Given the description of an element on the screen output the (x, y) to click on. 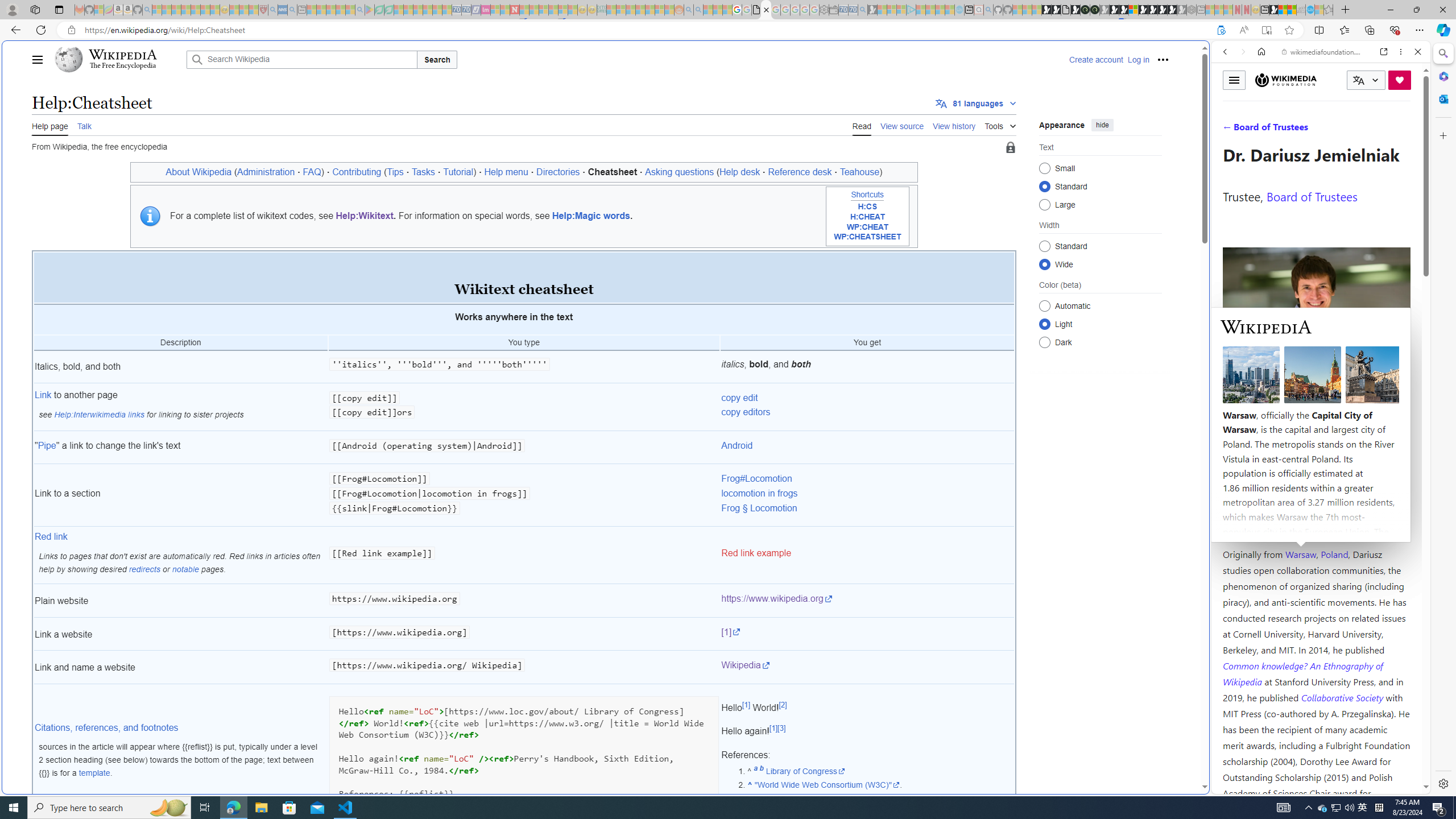
"Pipe" a link to change the link's text (180, 447)
Profile on Meta-Wiki (1273, 405)
Library of Congress (805, 770)
Help:Magic words (590, 216)
Play Cave FRVR in your browser | Games from Microsoft Start (922, 242)
Poland (1334, 554)
Common knowledge? An Ethnography of Wikipedia (1302, 672)
